Given the description of an element on the screen output the (x, y) to click on. 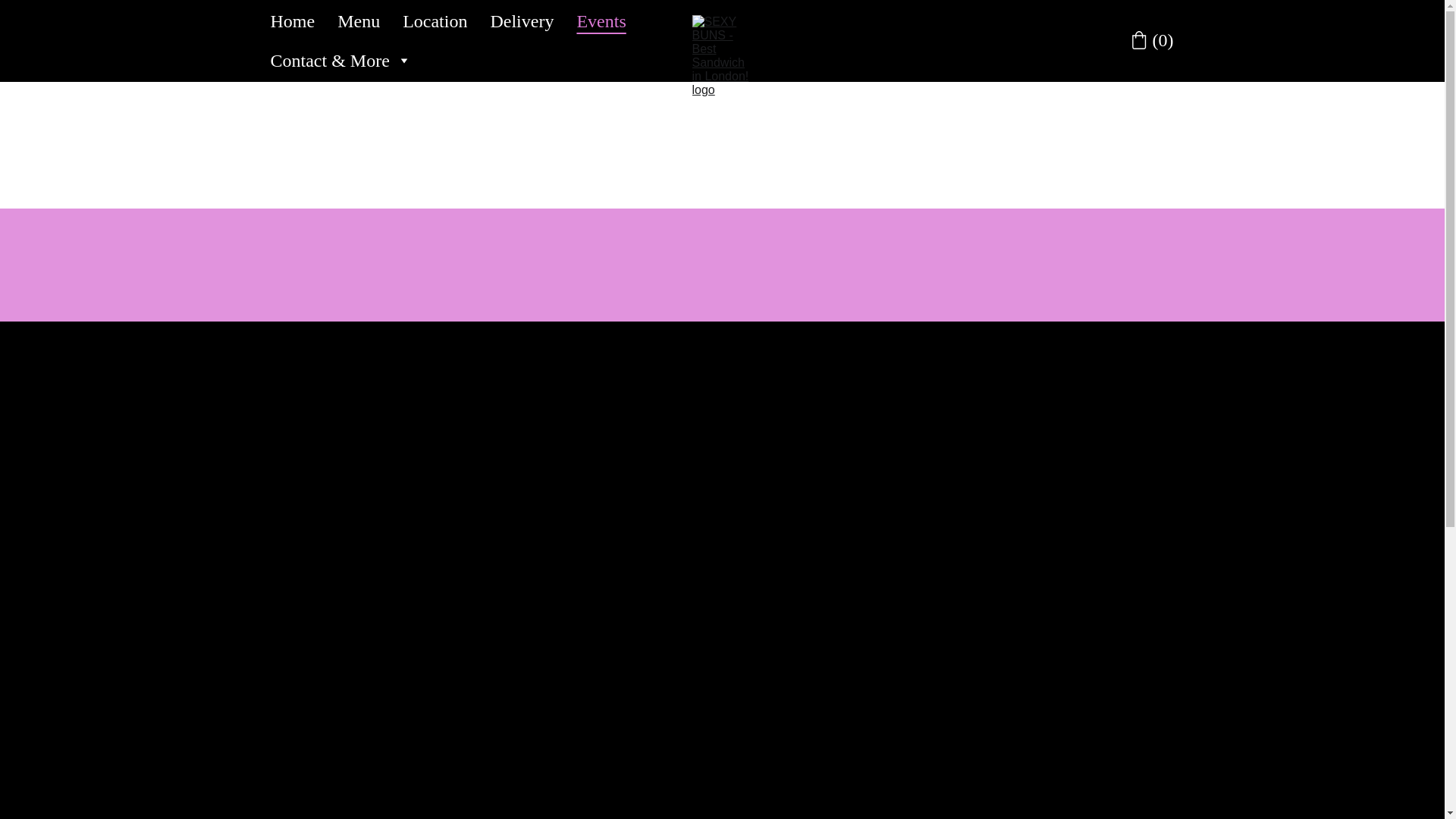
Go to cart (1151, 40)
Events (601, 21)
Location (435, 21)
Home (291, 21)
Delivery (521, 21)
Menu (358, 21)
